Given the description of an element on the screen output the (x, y) to click on. 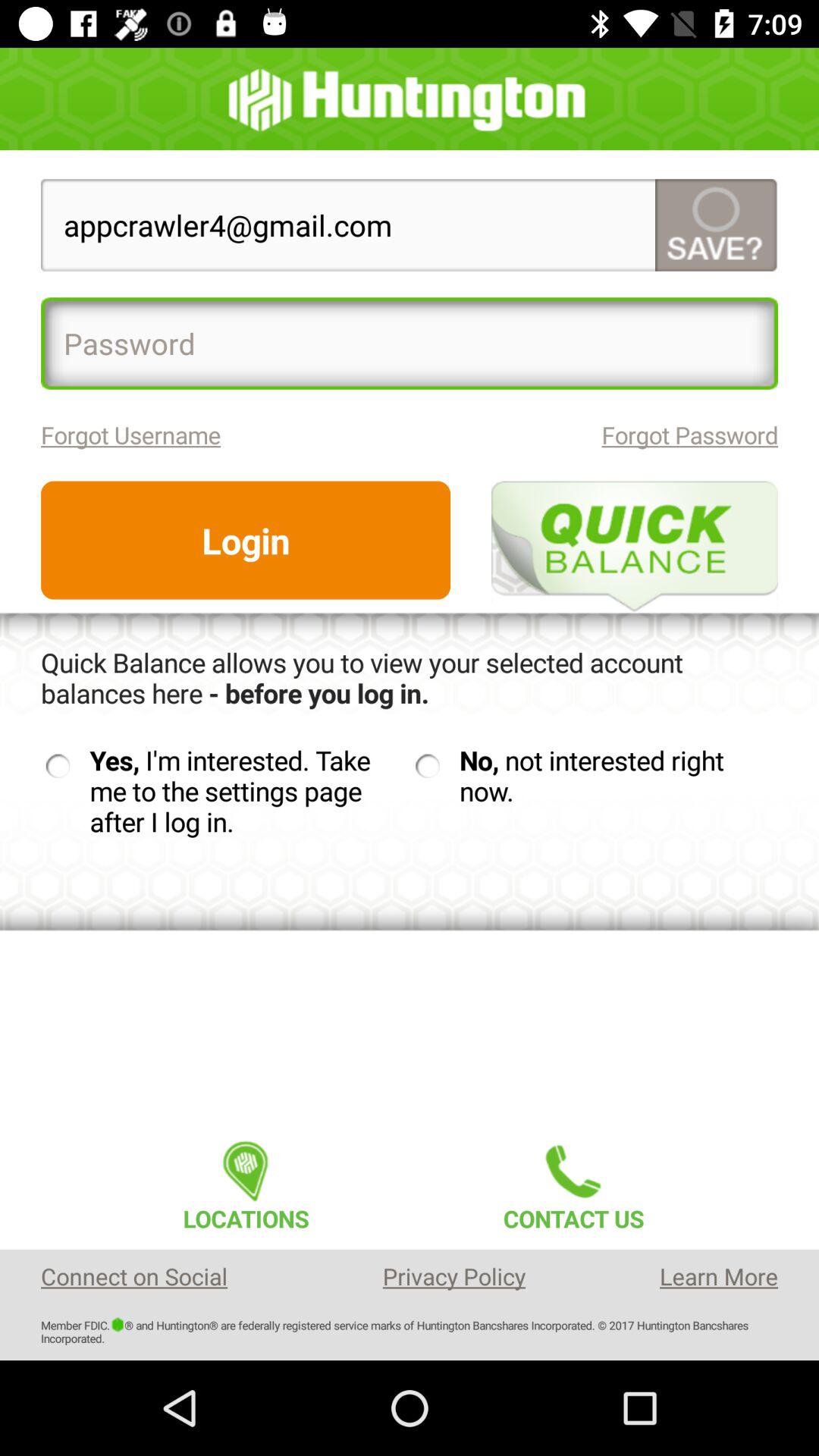
select the icon below yes i m item (245, 1181)
